Given the description of an element on the screen output the (x, y) to click on. 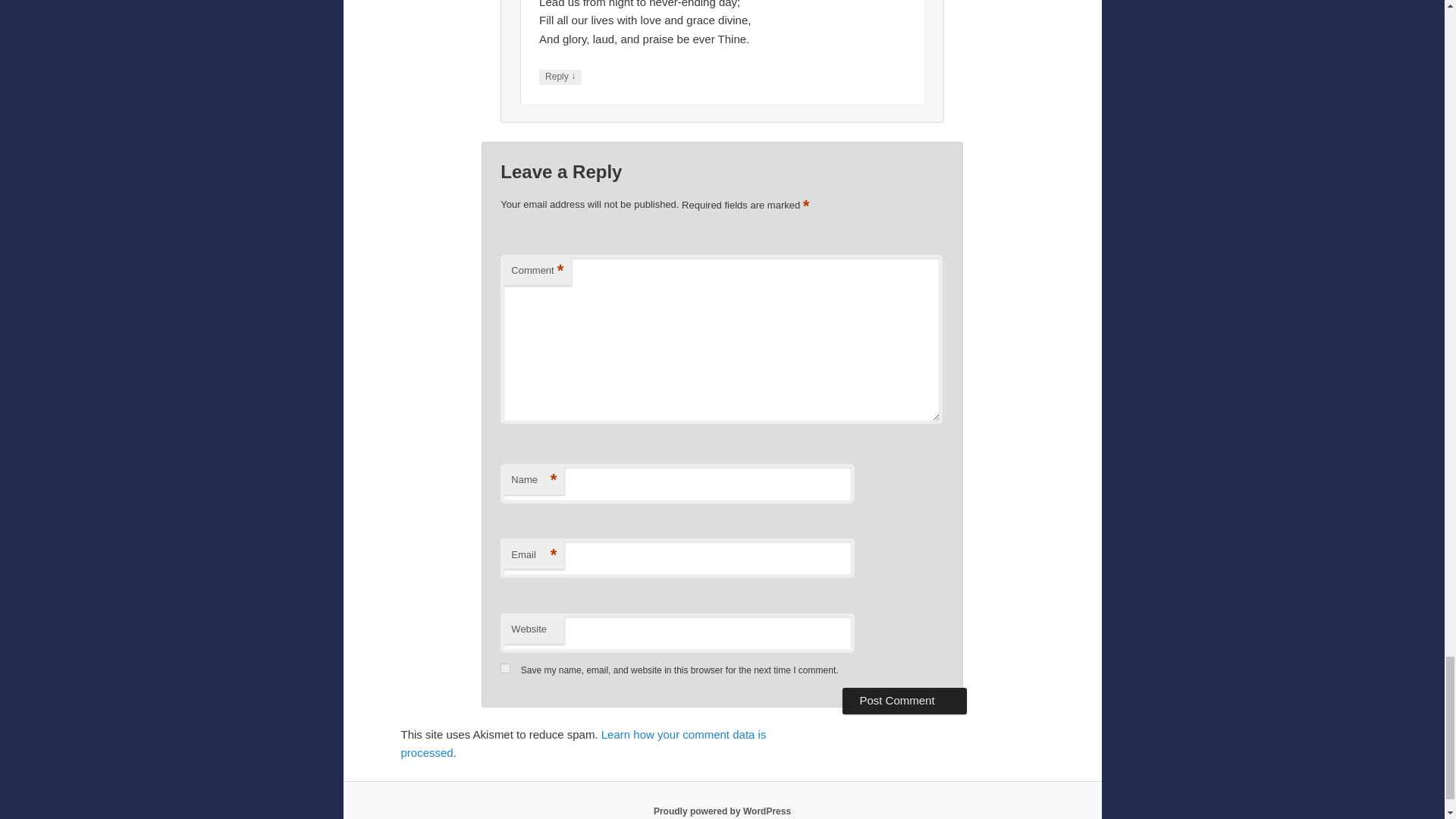
Post Comment (904, 700)
Semantic Personal Publishing Platform (721, 810)
Learn how your comment data is processed (582, 743)
yes (505, 668)
Post Comment (904, 700)
Proudly powered by WordPress (721, 810)
